Given the description of an element on the screen output the (x, y) to click on. 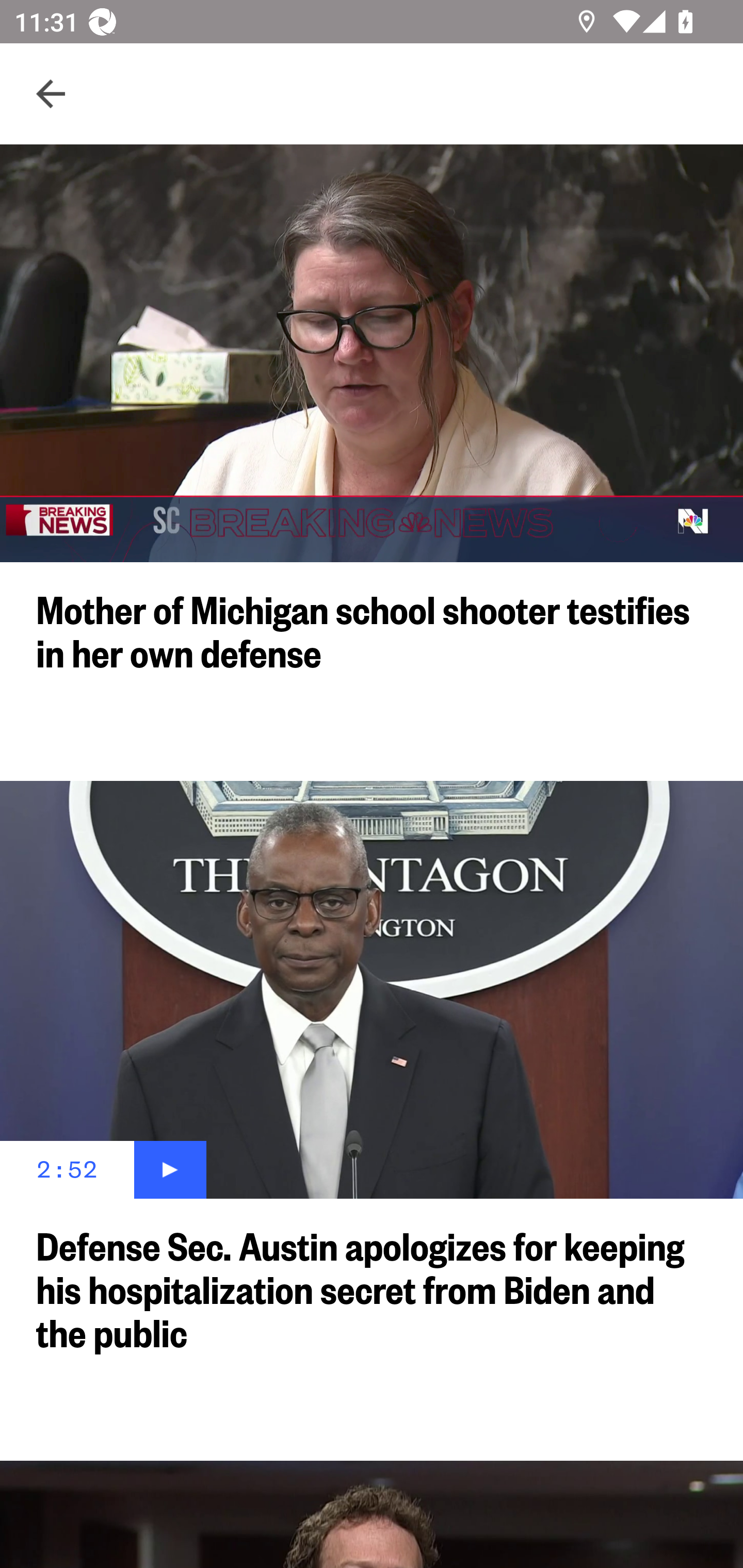
Navigate up (50, 93)
